Given the description of an element on the screen output the (x, y) to click on. 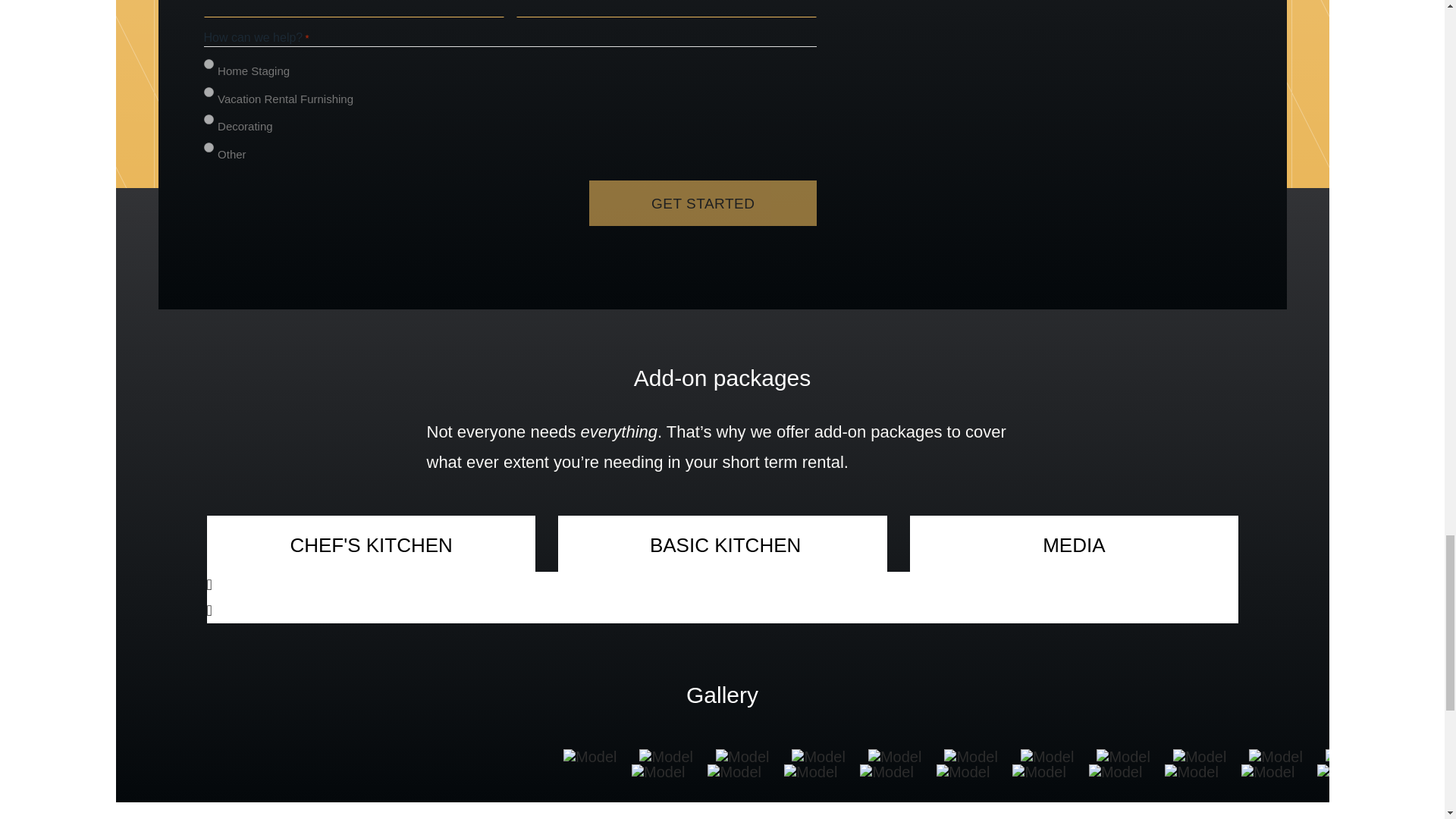
Other (207, 147)
GET STARTED (702, 203)
Home Staging (207, 63)
Vacation Rental Furnishing (207, 91)
Decorating (207, 119)
